Given the description of an element on the screen output the (x, y) to click on. 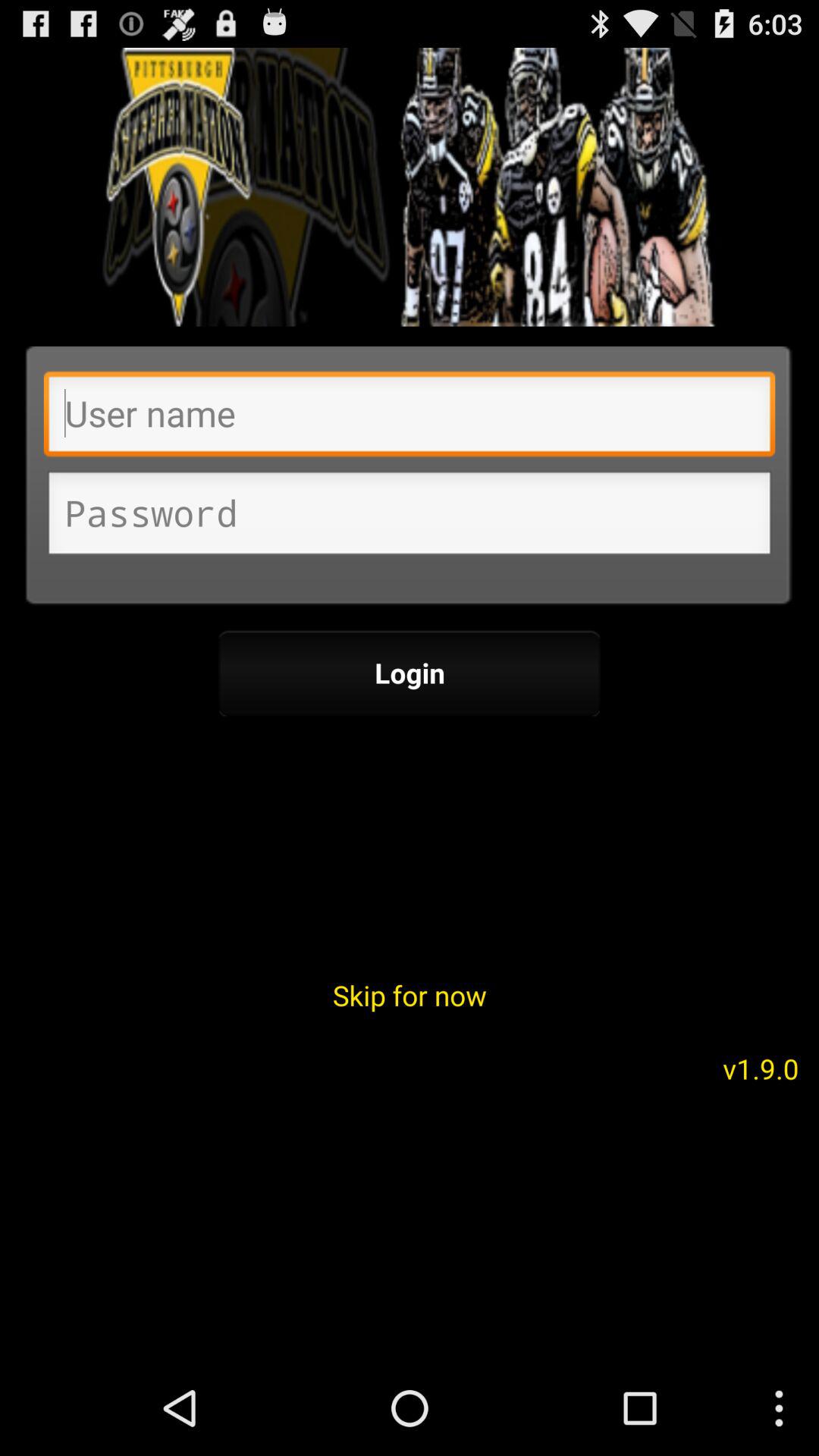
enter your password (409, 517)
